Given the description of an element on the screen output the (x, y) to click on. 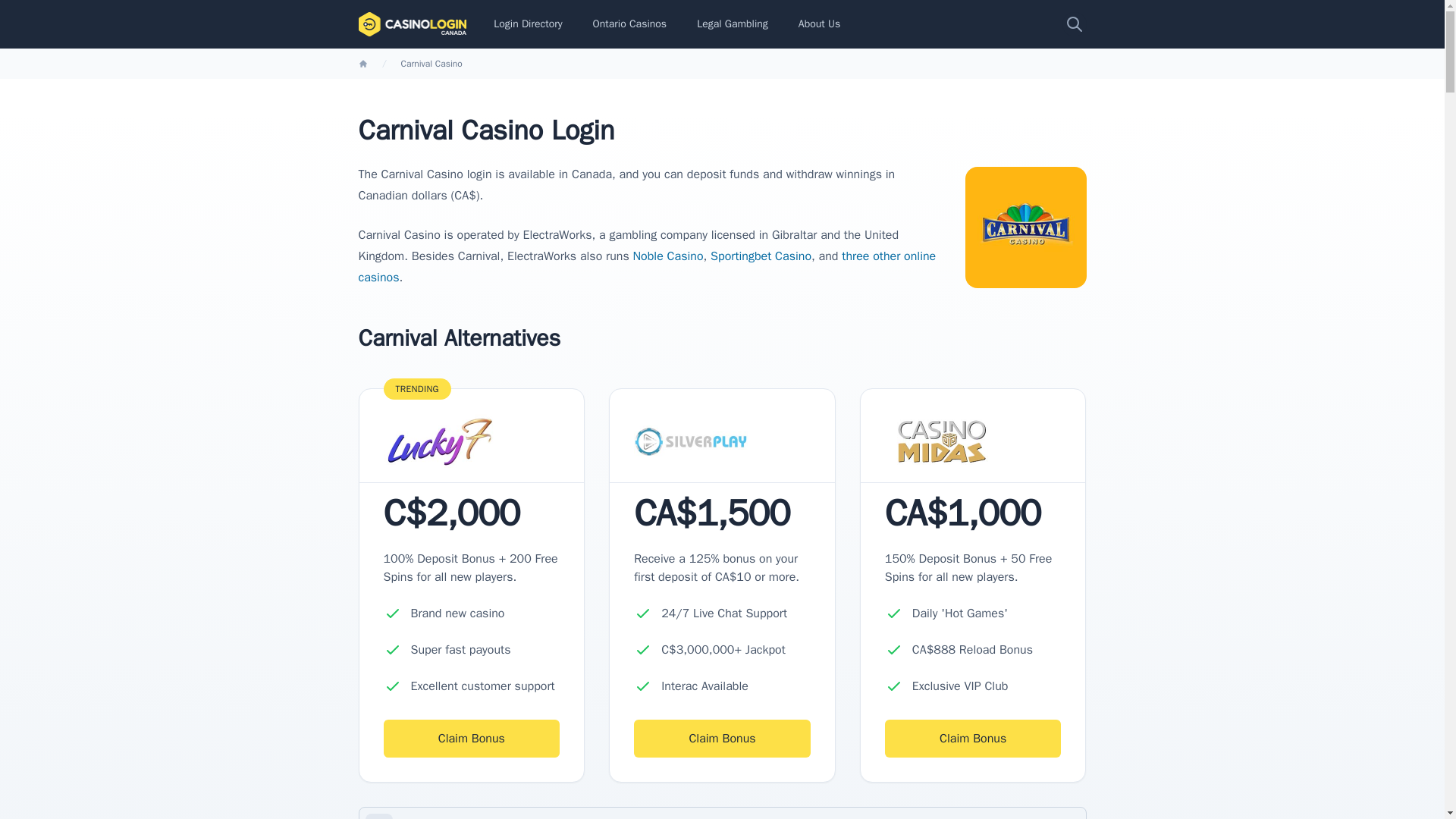
Carnival Casino Logo (1024, 227)
Login Directory (527, 23)
Noble Casino (668, 255)
Casino Midas Logo (941, 441)
Silverplay Logo (690, 441)
Home (362, 62)
Ontario Casinos (630, 23)
Claim Bonus (472, 738)
Claim Bonus (721, 738)
Sportingbet Casino (760, 255)
